Given the description of an element on the screen output the (x, y) to click on. 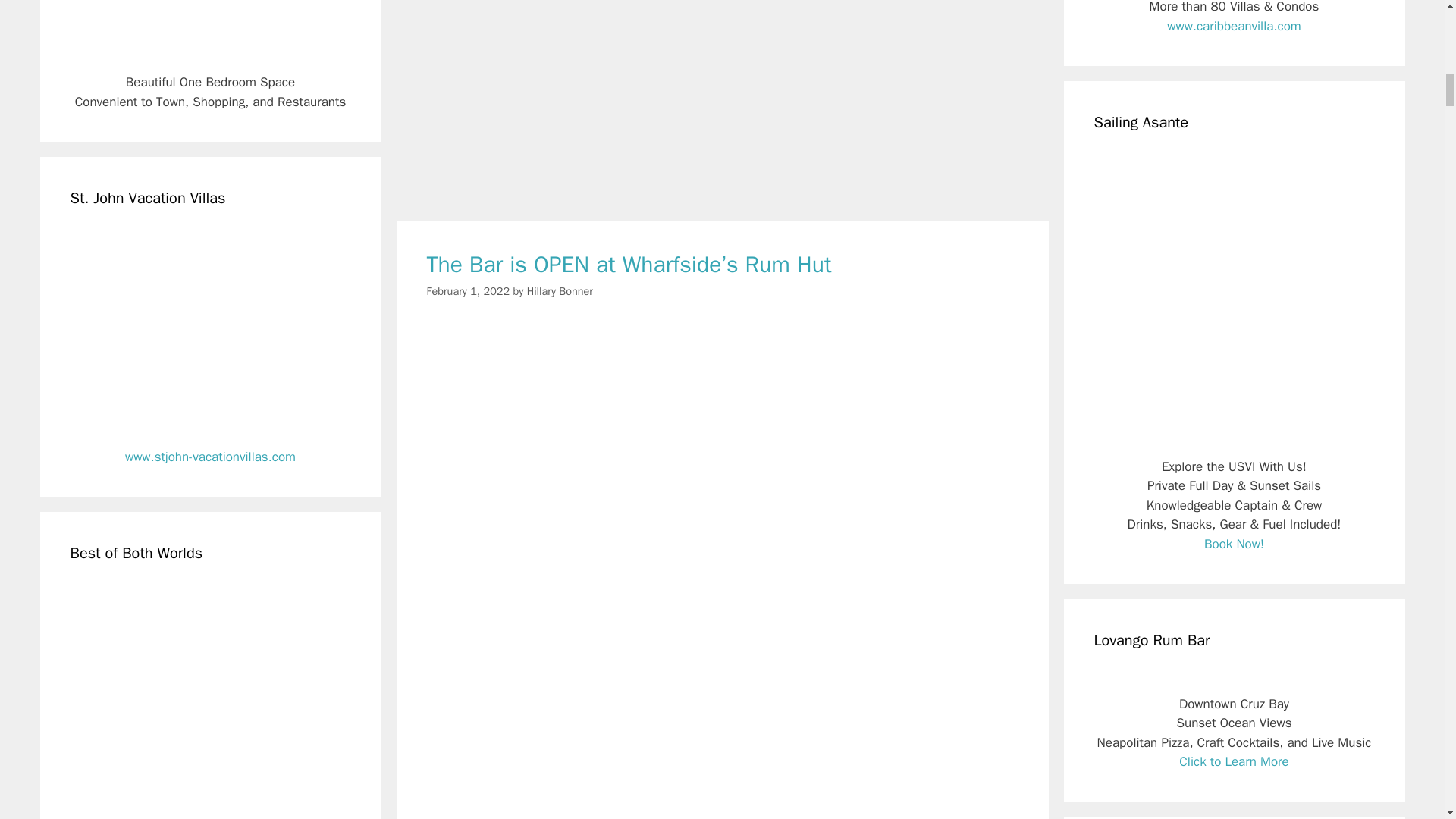
Advertisement (722, 102)
February 1, 2022 (467, 291)
6:31 am (467, 291)
View all posts by Hillary Bonner (559, 291)
